Given the description of an element on the screen output the (x, y) to click on. 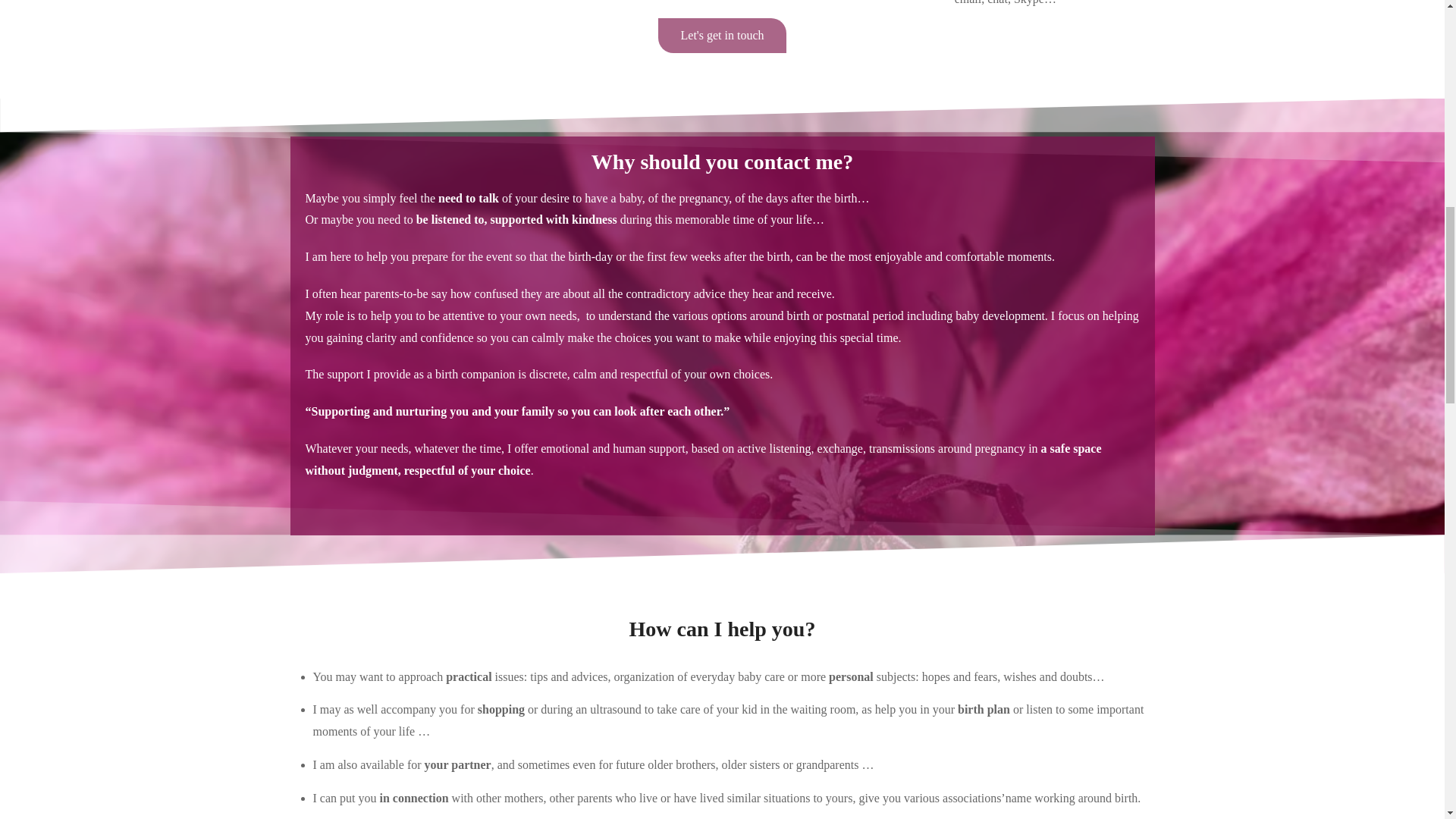
Let's get in touch (722, 35)
